Given the description of an element on the screen output the (x, y) to click on. 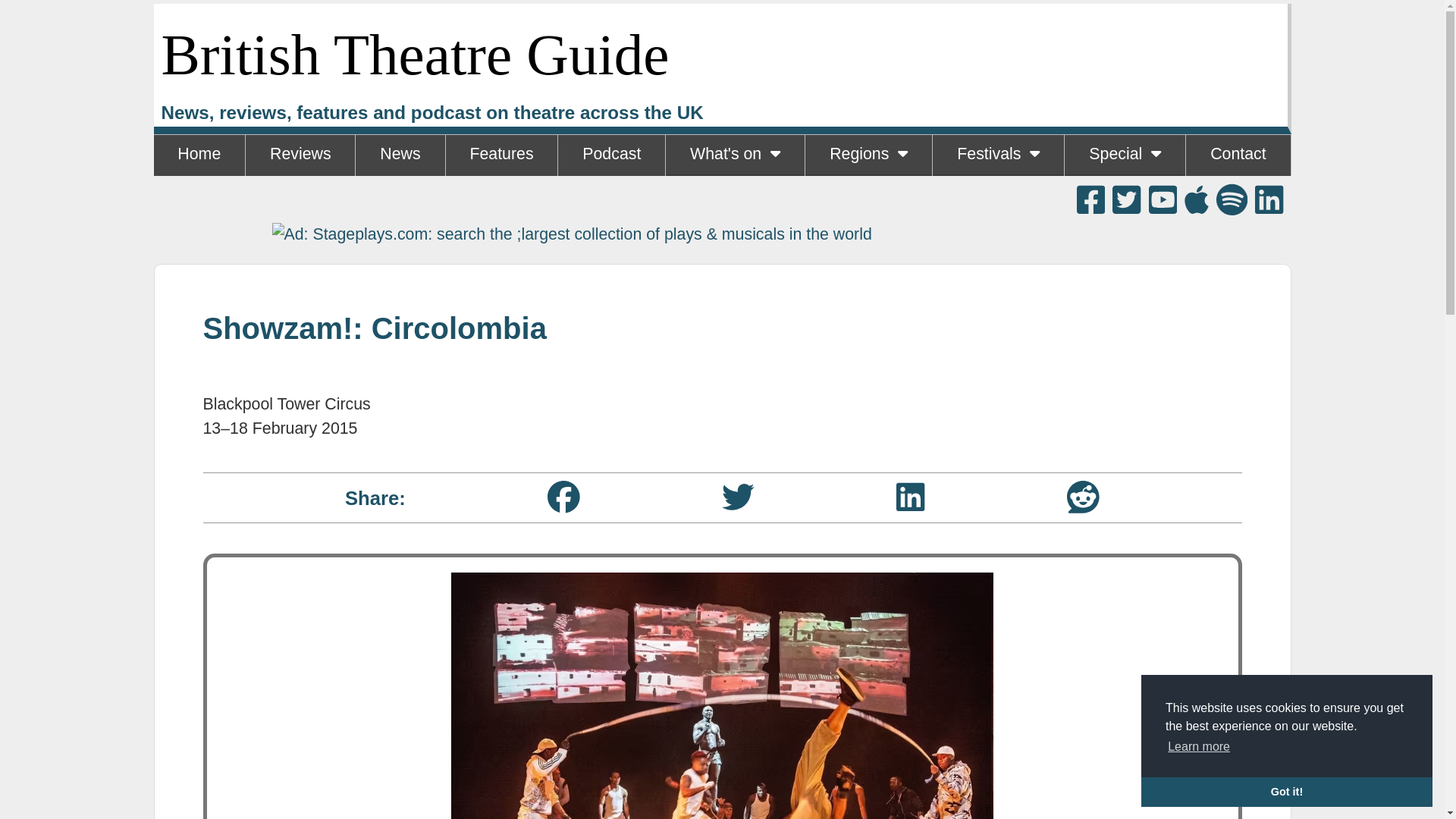
Home (198, 154)
Podcast (611, 154)
Features (501, 154)
Reddit (1083, 496)
British Theatre Guide (414, 54)
Listings (734, 196)
What's on   (735, 155)
Regions   (868, 155)
LinkedIn (910, 496)
Twitter (738, 496)
Festivals   (998, 155)
Edinburgh (997, 196)
Follow us on Facebook (1091, 199)
Reviews (300, 154)
North West (868, 196)
